Given the description of an element on the screen output the (x, y) to click on. 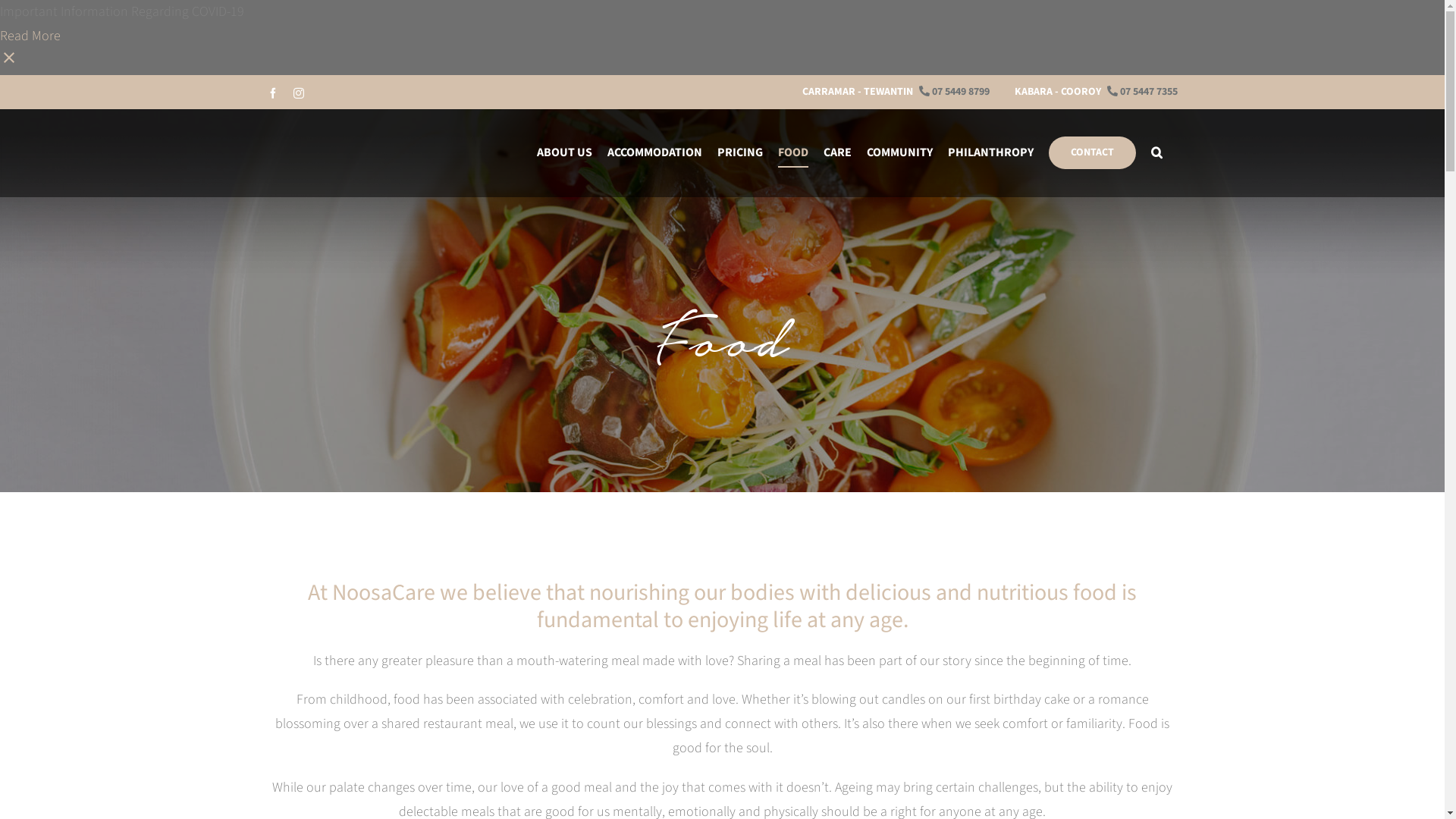
Search Element type: hover (1156, 152)
FOOD Element type: text (793, 152)
Facebook Element type: text (271, 92)
07 5449 8799 Element type: text (954, 91)
ABOUT US Element type: text (564, 152)
PHILANTHROPY Element type: text (990, 152)
07 5447 7355 Element type: text (1142, 91)
Instagram Element type: text (297, 92)
PRICING Element type: text (739, 152)
COMMUNITY Element type: text (898, 152)
CONTACT Element type: text (1091, 152)
Read More Element type: text (30, 35)
ACCOMMODATION Element type: text (653, 152)
CARE Element type: text (837, 152)
